Given the description of an element on the screen output the (x, y) to click on. 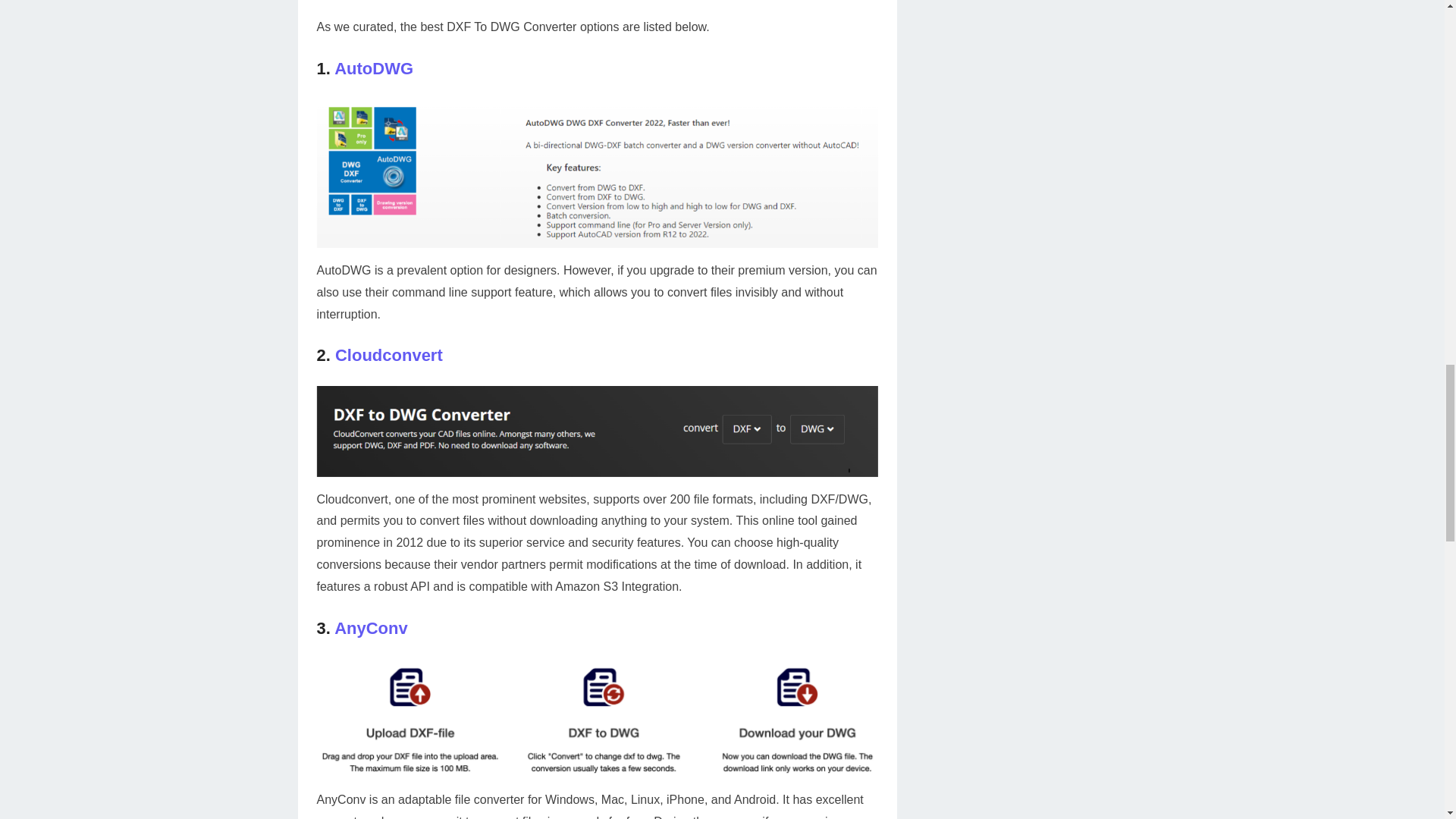
Cloudconvert (388, 354)
AnyConv (370, 628)
AutoDWG (373, 67)
